Given the description of an element on the screen output the (x, y) to click on. 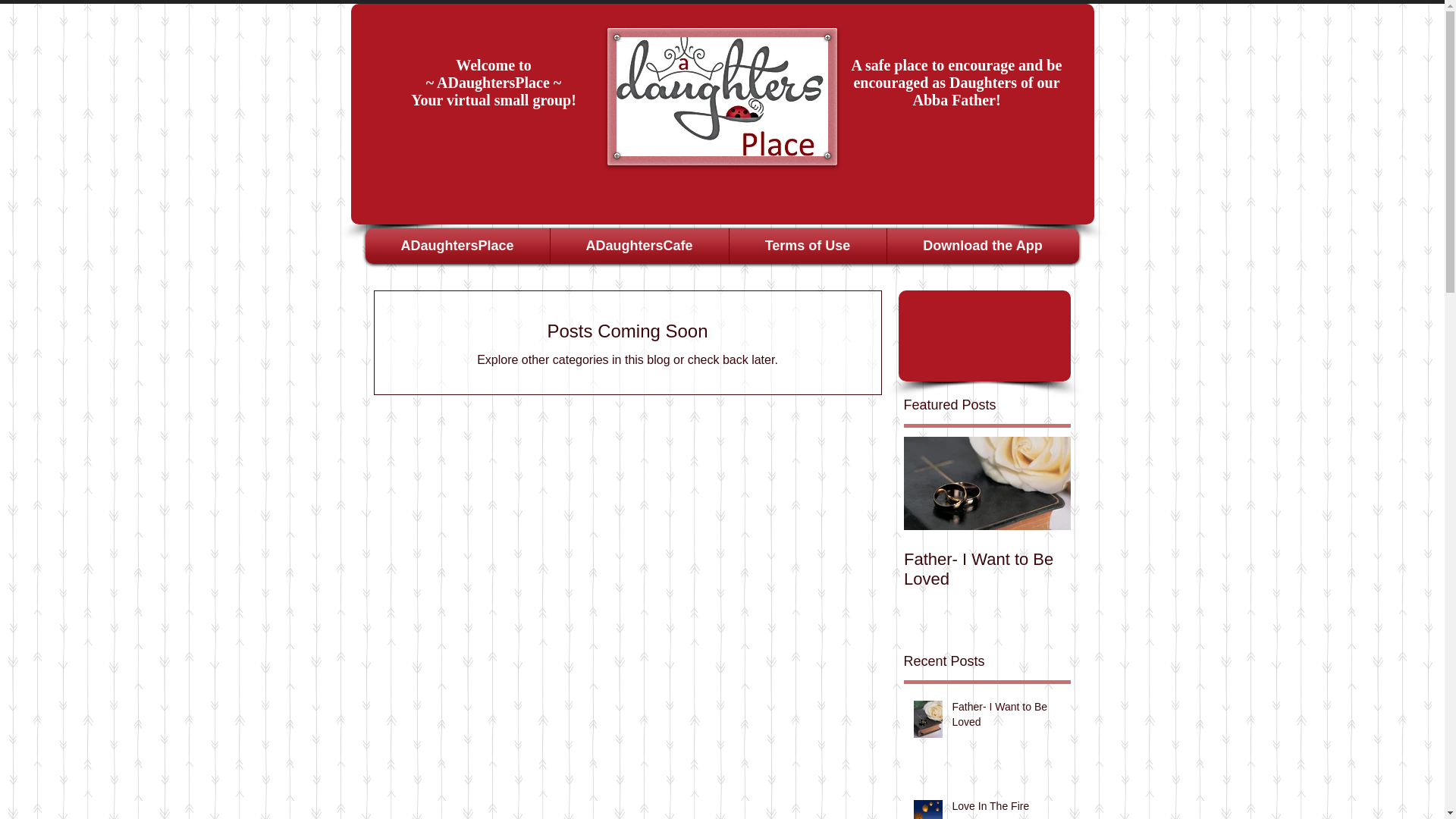
Terms of Use (807, 245)
ADaughtersPlace (456, 245)
Download the App (981, 245)
Father- I Want to Be Loved (1006, 717)
Father- I Want to Be Loved (987, 568)
Love In The Fire (1006, 809)
ADaughtersCafe (638, 245)
